Given the description of an element on the screen output the (x, y) to click on. 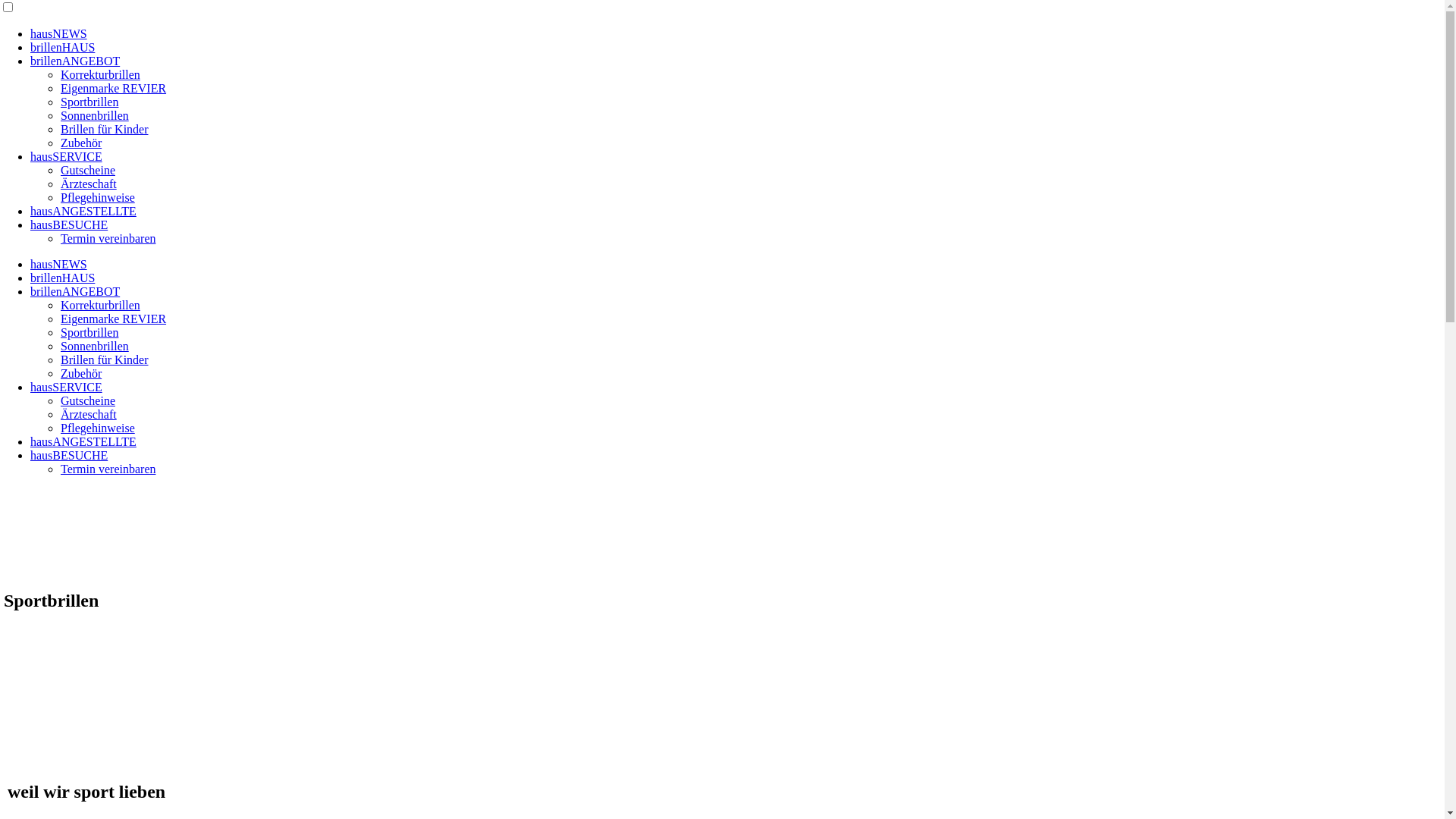
Sportbrillen Element type: text (89, 101)
brillenHAUS Element type: text (62, 46)
Sonnenbrillen Element type: text (94, 115)
Eigenmarke REVIER Element type: text (113, 87)
hausSERVICE Element type: text (66, 386)
hausANGESTELLTE Element type: text (83, 210)
hausNEWS Element type: text (58, 33)
hausBESUCHE Element type: text (68, 454)
Sportbrillen Element type: text (89, 332)
Korrekturbrillen Element type: text (100, 74)
Gutscheine Element type: text (87, 400)
brillenANGEBOT Element type: text (74, 60)
Termin vereinbaren Element type: text (107, 238)
hausNEWS Element type: text (58, 263)
Gutscheine Element type: text (87, 169)
hausANGESTELLTE Element type: text (83, 441)
Pflegehinweise Element type: text (97, 427)
Pflegehinweise Element type: text (97, 197)
Korrekturbrillen Element type: text (100, 304)
Sonnenbrillen Element type: text (94, 345)
hausBESUCHE Element type: text (68, 224)
brillenHAUS Element type: text (62, 277)
hausSERVICE Element type: text (66, 156)
brillenANGEBOT Element type: text (74, 291)
Termin vereinbaren Element type: text (107, 468)
Eigenmarke REVIER Element type: text (113, 318)
